Given the description of an element on the screen output the (x, y) to click on. 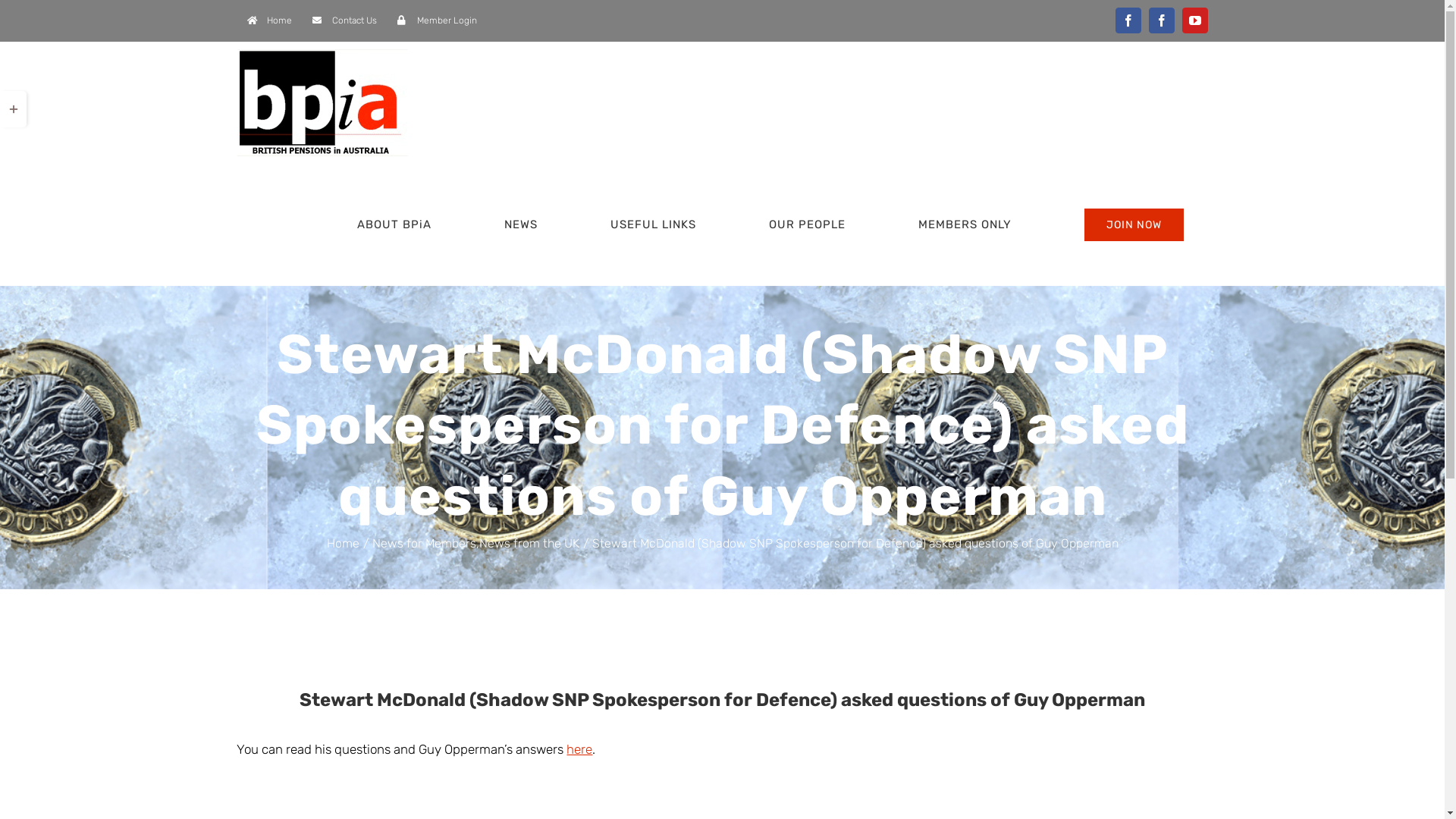
News from the UK Element type: text (529, 543)
Toggle Sliding Bar Area Element type: text (13, 109)
News for Members Element type: text (423, 543)
Home Element type: text (342, 543)
OUR PEOPLE Element type: text (806, 224)
Contact Us Element type: text (343, 20)
here Element type: text (579, 748)
Facebook Element type: text (1160, 20)
MEMBERS ONLY Element type: text (964, 224)
ABOUT BPiA Element type: text (393, 224)
Facebook Element type: text (1127, 20)
NEWS Element type: text (520, 224)
USEFUL LINKS Element type: text (652, 224)
YouTube Element type: text (1194, 20)
Member Login Element type: text (436, 20)
Home Element type: text (268, 20)
JOIN NOW Element type: text (1121, 224)
